Given the description of an element on the screen output the (x, y) to click on. 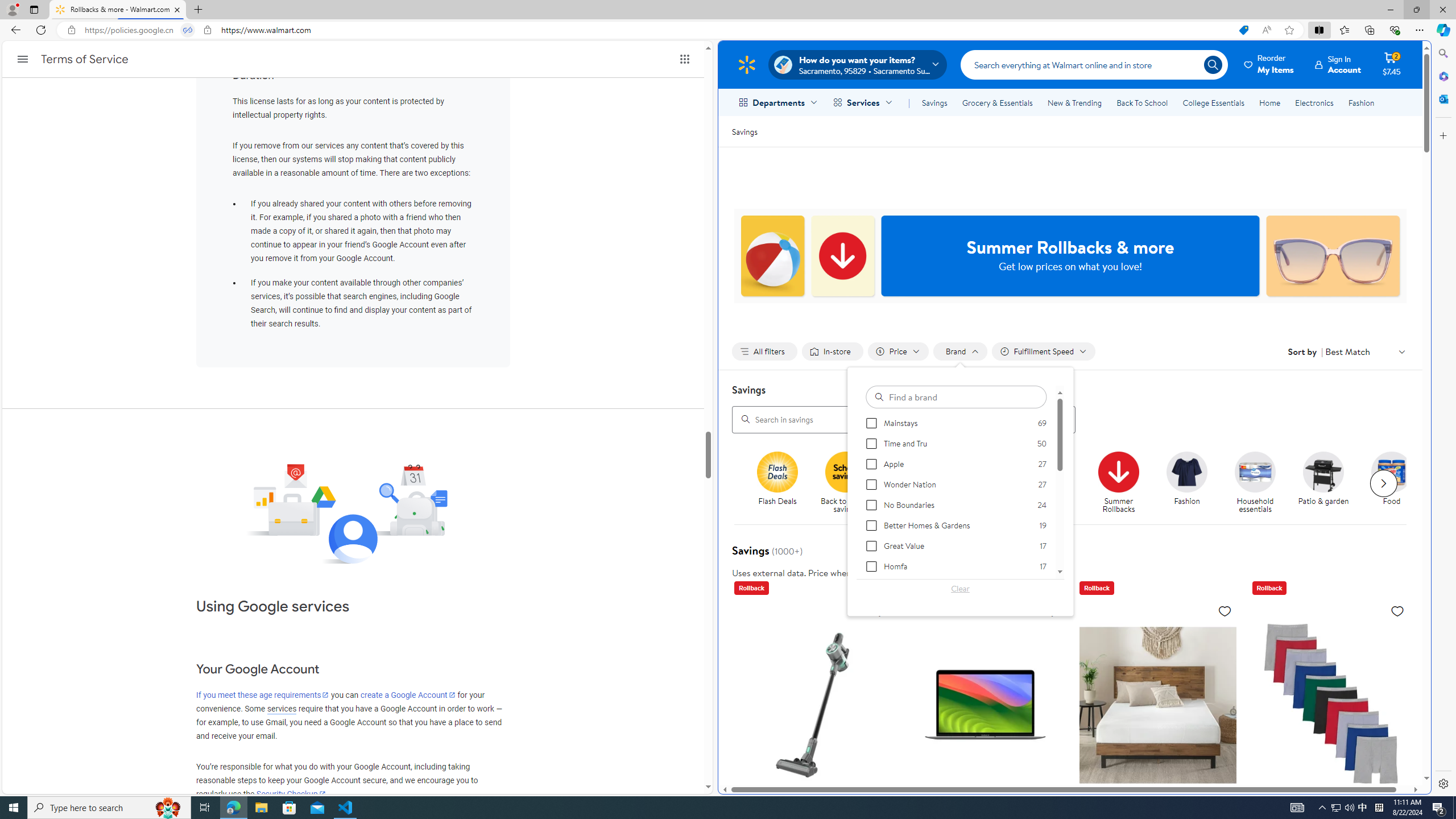
Back to School savings (845, 471)
Next slide for chipModuleWithImages list (1383, 483)
Filter by Brand not applied, activate to change (960, 351)
Savings (744, 131)
$20 and under (982, 471)
Fashion (1186, 471)
ReorderMy Items (1269, 64)
